Given the description of an element on the screen output the (x, y) to click on. 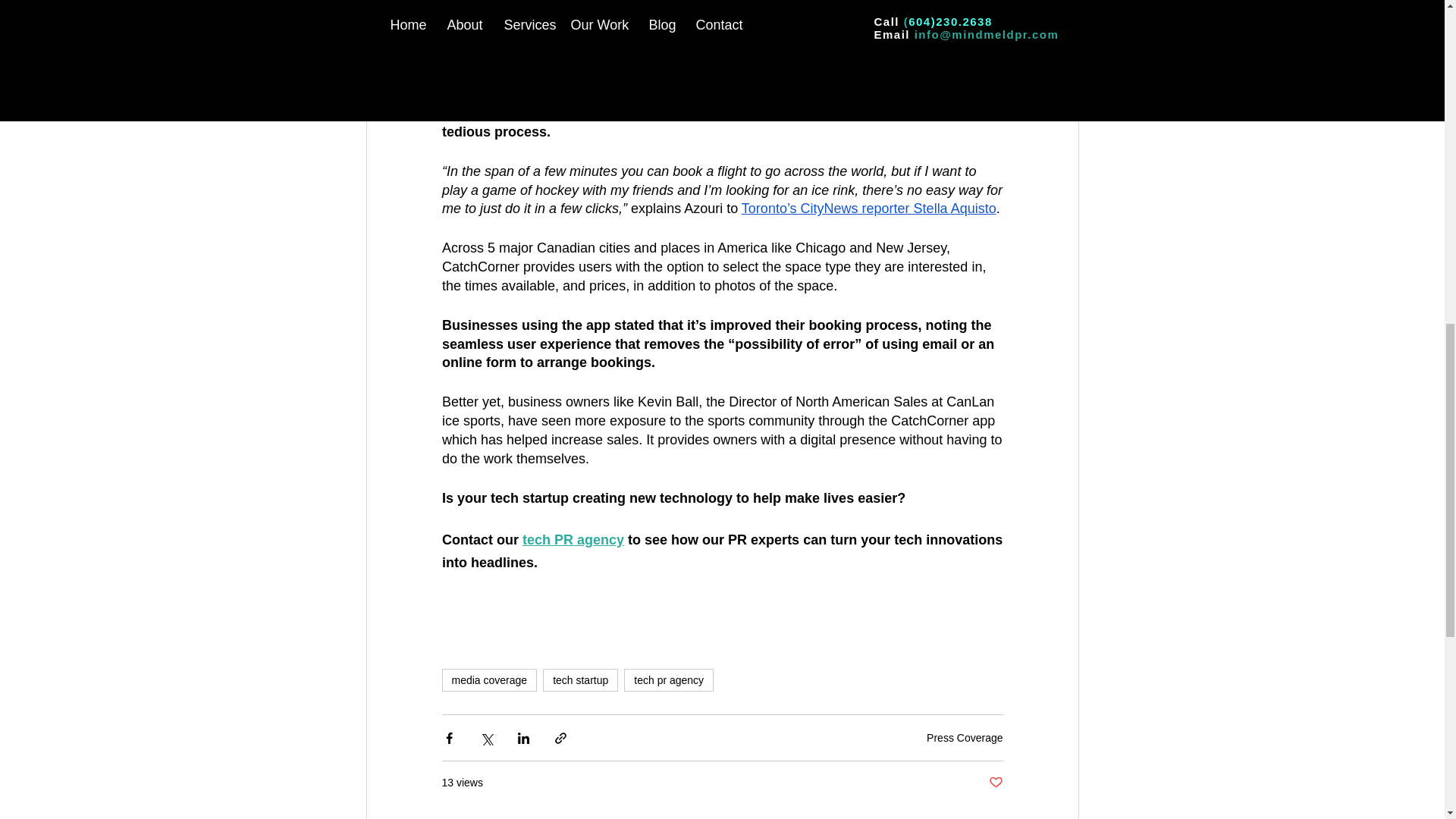
tech PR agency (573, 539)
tech pr agency (668, 680)
tech startup (580, 680)
Post not marked as liked (995, 782)
media coverage (489, 680)
Press Coverage (964, 737)
CatchCorner (479, 2)
